Given the description of an element on the screen output the (x, y) to click on. 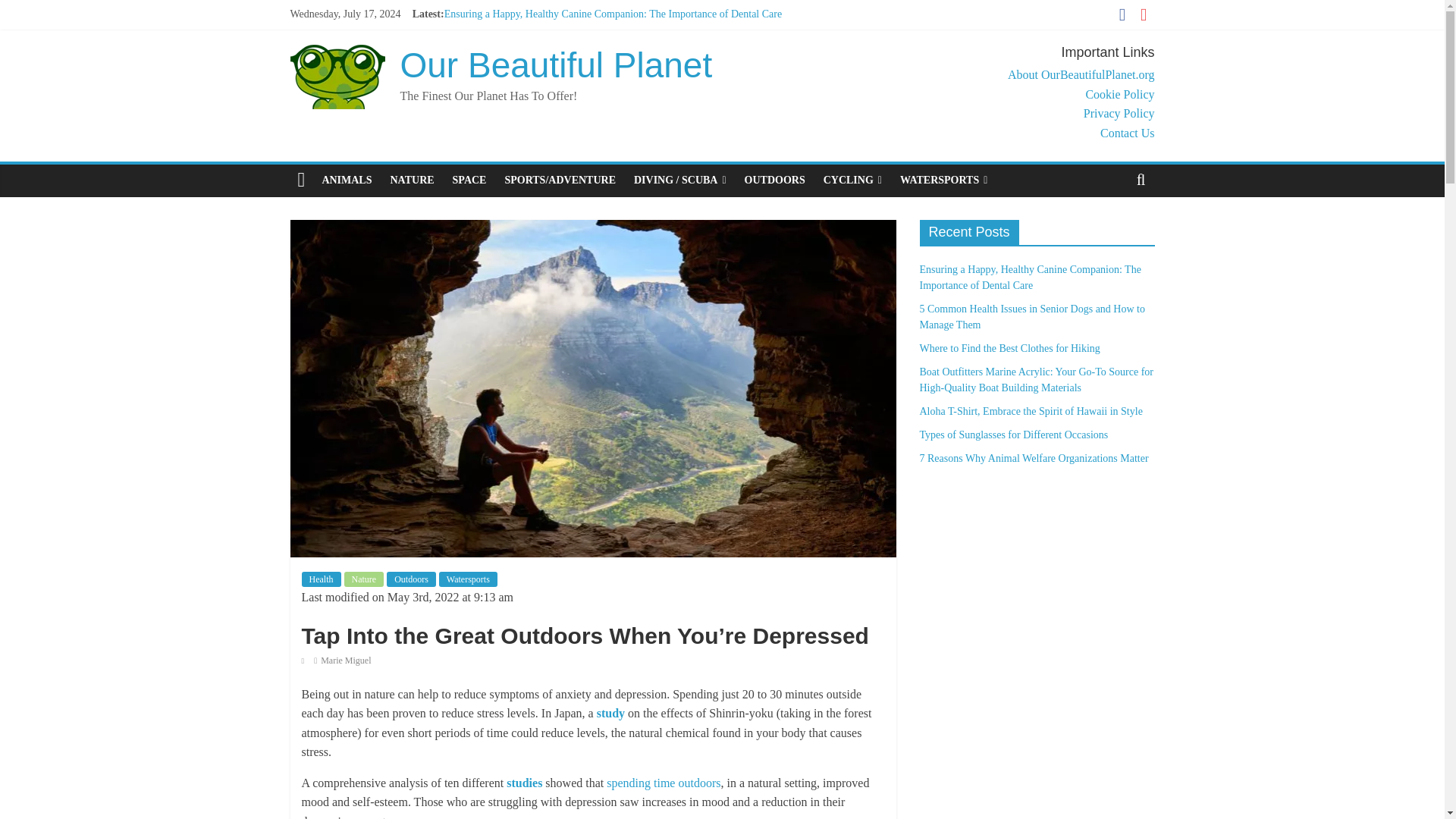
Contact Us (1127, 132)
Privacy Policy (1118, 113)
Where to Find the Best Clothes for Hiking (534, 48)
OUTDOORS (774, 180)
NATURE (411, 180)
WATERSPORTS (943, 180)
ANIMALS (346, 180)
Marie Miguel (345, 660)
5 Common Health Issues in Senior Dogs and How to Manage Them (588, 30)
Cookie Policy (1119, 93)
Our Beautiful Planet (556, 65)
About OurBeautifulPlanet.org (1080, 74)
Where to Find the Best Clothes for Hiking (534, 48)
